Given the description of an element on the screen output the (x, y) to click on. 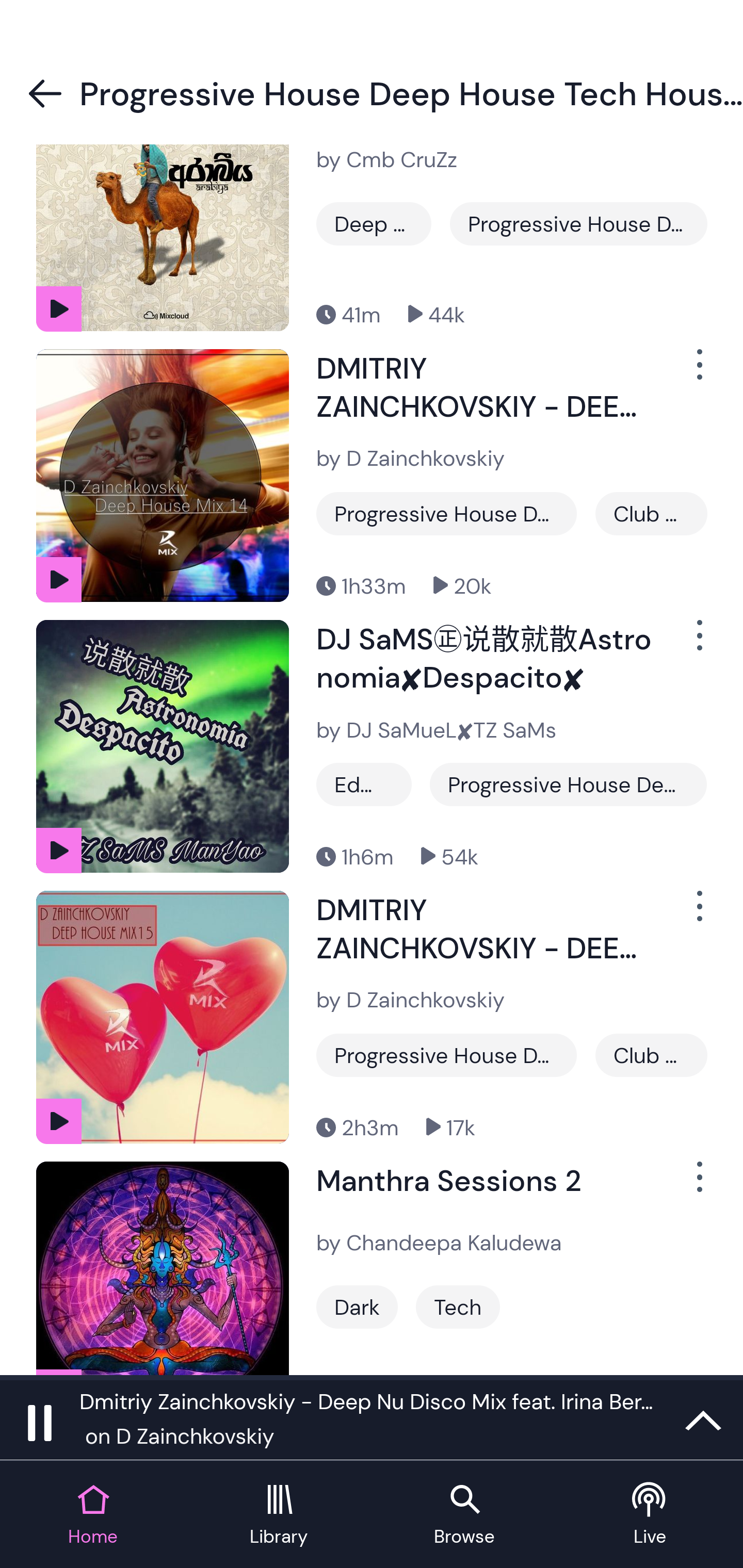
Deep House (373, 224)
Progressive House Deep House Tech House (578, 224)
Show Options Menu Button (697, 372)
Progressive House Deep House Tech House (446, 513)
Club House (650, 513)
Show Options Menu Button (697, 642)
Edm Mix (363, 784)
Progressive House Deep House Tech House (567, 784)
Show Options Menu Button (697, 913)
Progressive House Deep House Tech House (446, 1055)
Club House (650, 1055)
Show Options Menu Button (697, 1184)
Dark (356, 1306)
Tech (458, 1306)
Home tab Home (92, 1515)
Library tab Library (278, 1515)
Browse tab Browse (464, 1515)
Live tab Live (650, 1515)
